Given the description of an element on the screen output the (x, y) to click on. 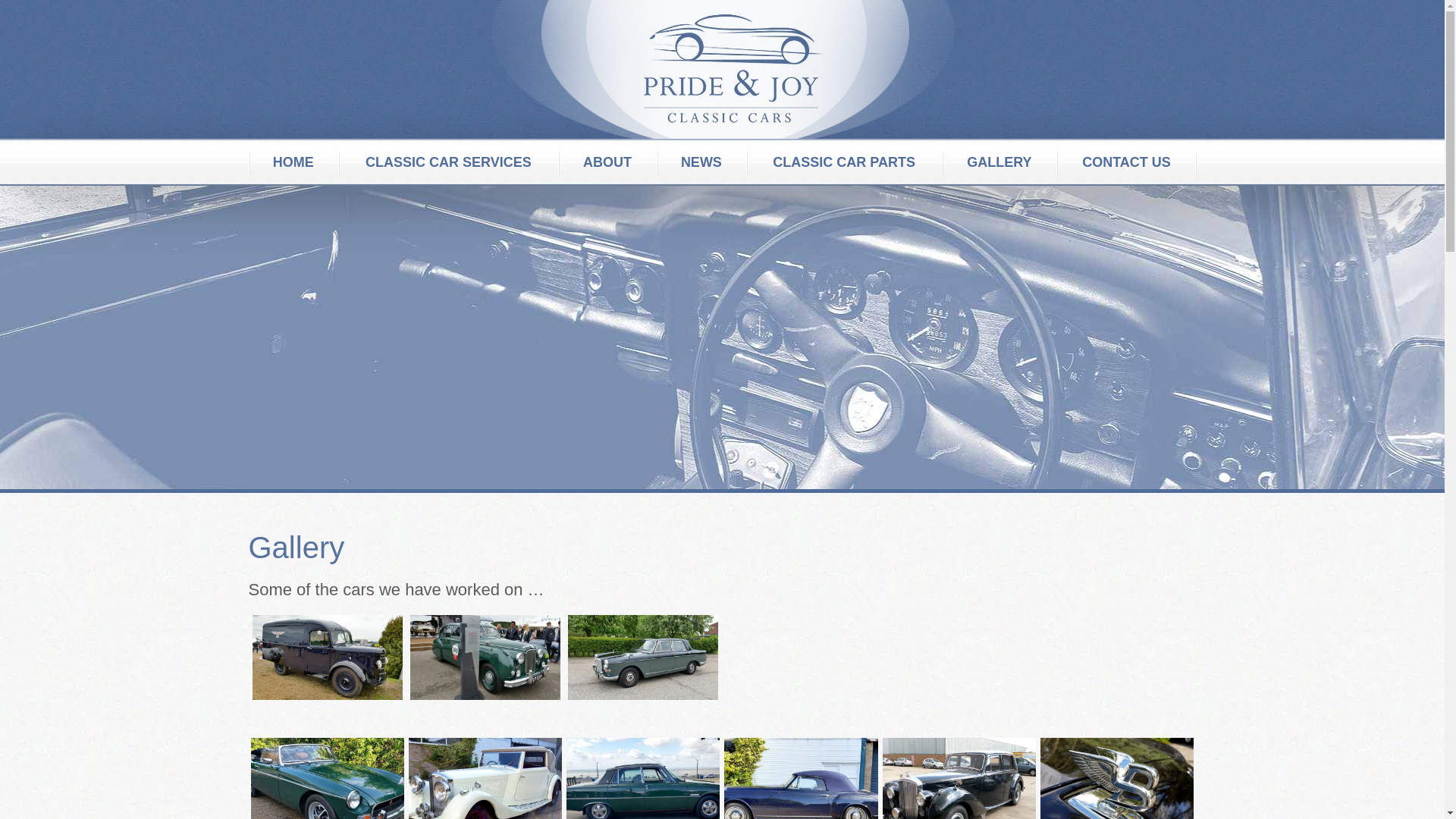
003 (642, 778)
004 (800, 778)
005 (958, 778)
HOME (293, 162)
CLASSIC CAR PARTS (843, 162)
001 (326, 778)
006 (1117, 778)
002 (485, 778)
CLASSIC CAR SERVICES (447, 162)
CONTACT US (1126, 162)
